Given the description of an element on the screen output the (x, y) to click on. 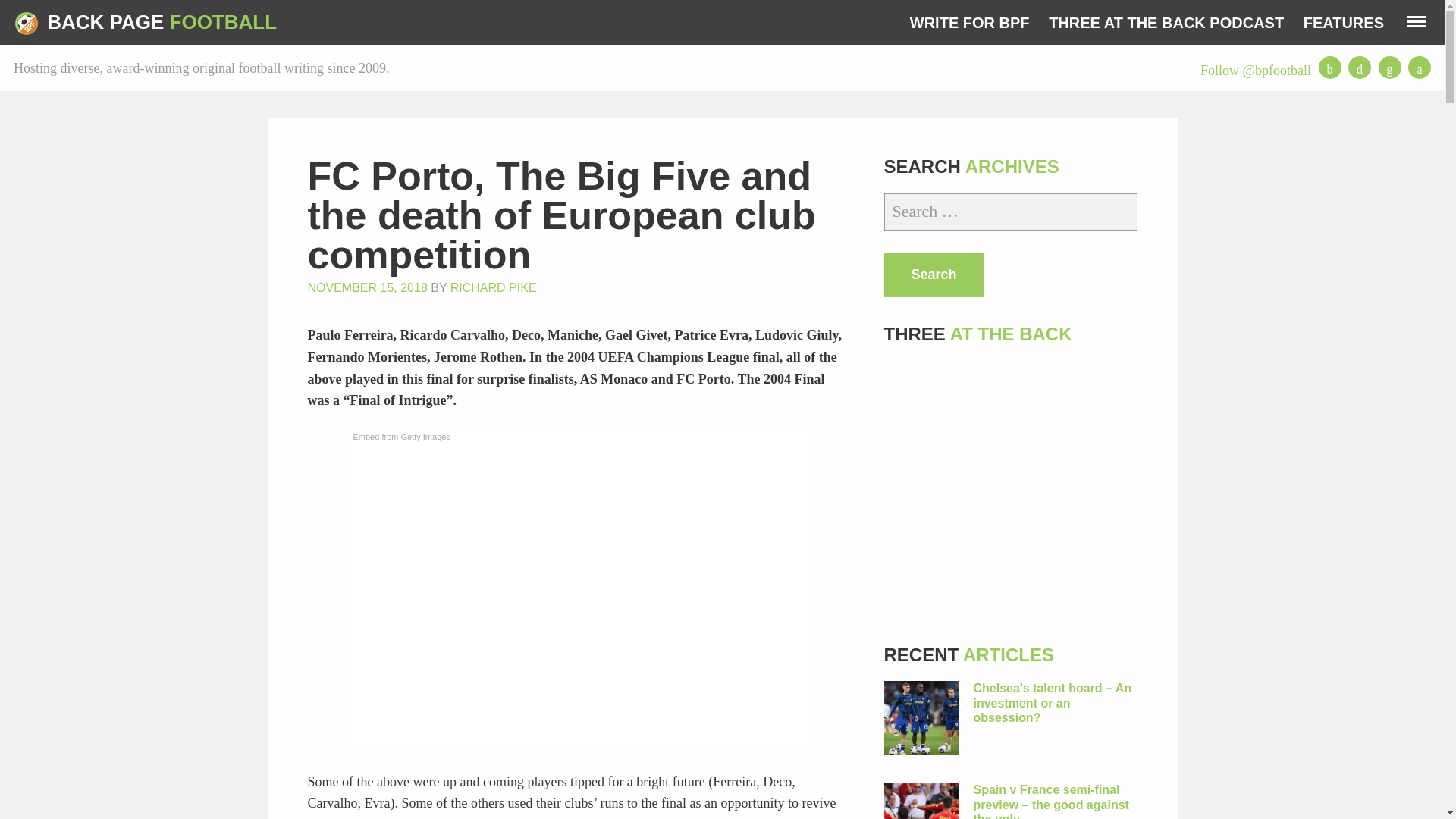
Search (933, 274)
BACK PAGE FOOTBALL (145, 22)
WRITE FOR BPF (969, 22)
Search (933, 274)
THREE AT THE BACK PODCAST (1166, 22)
FEATURES (1343, 22)
